Given the description of an element on the screen output the (x, y) to click on. 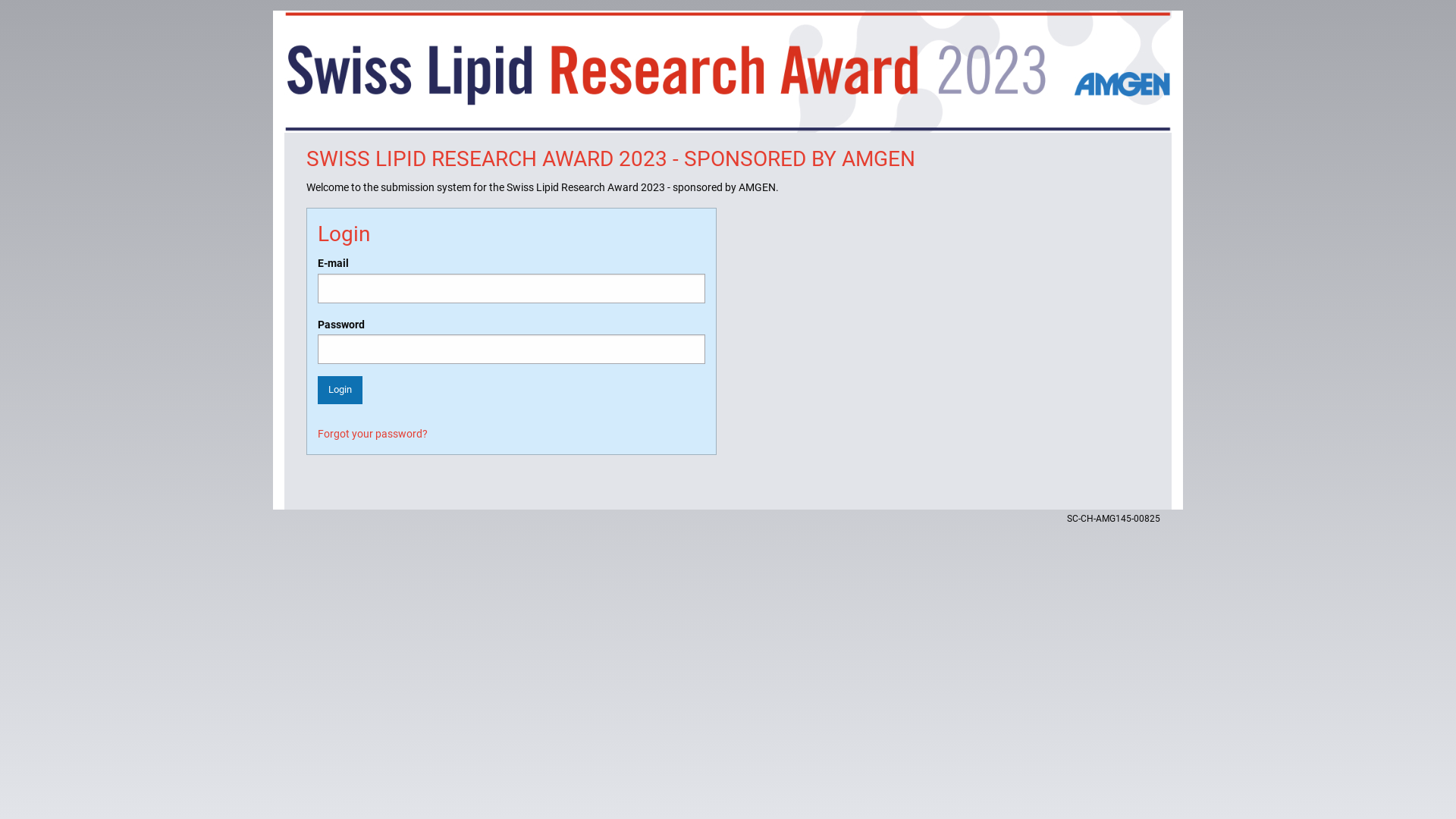
Forgot your password? Element type: text (372, 433)
Login Element type: text (339, 390)
